Given the description of an element on the screen output the (x, y) to click on. 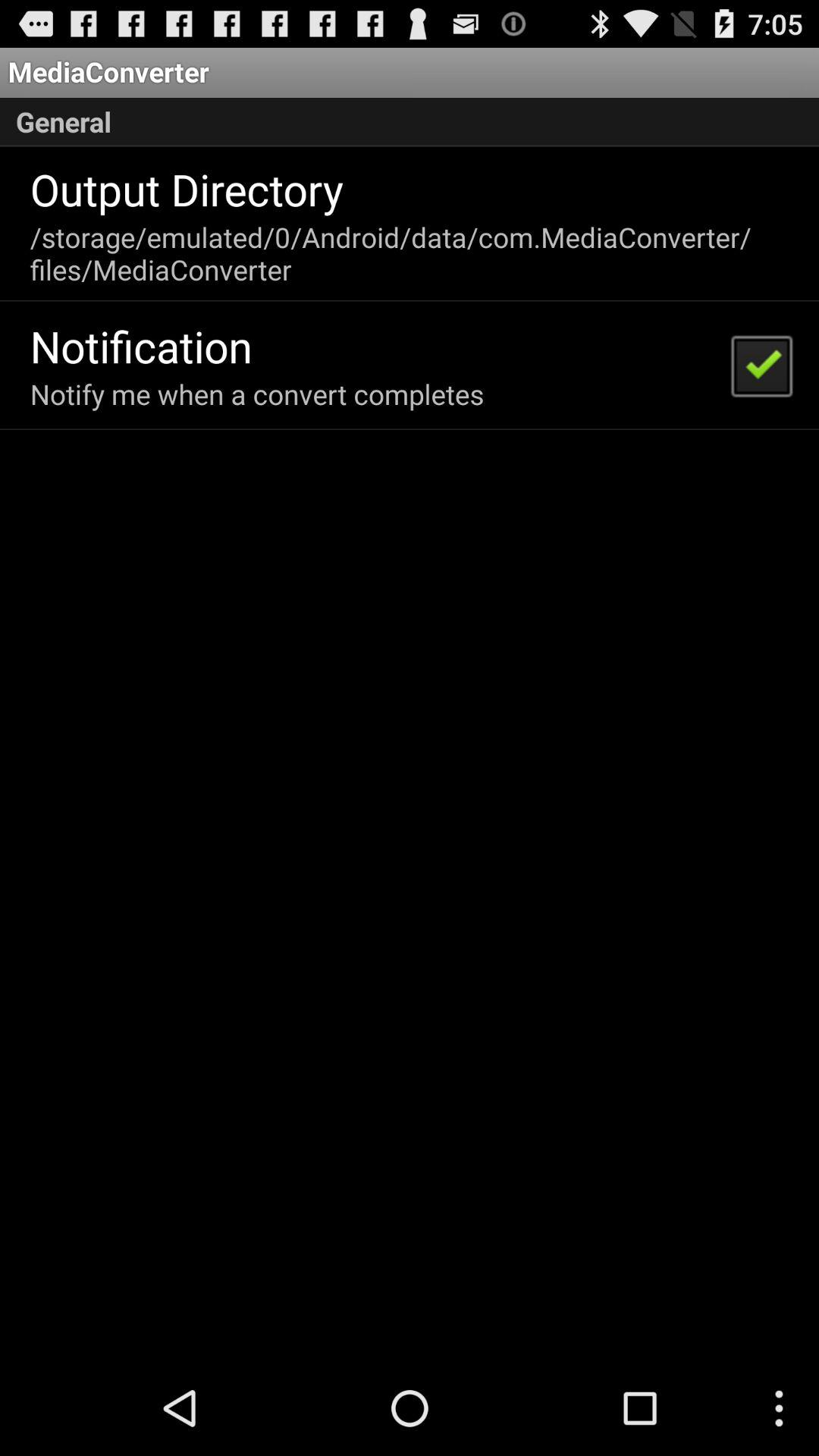
turn off item above the notify me when item (141, 345)
